Given the description of an element on the screen output the (x, y) to click on. 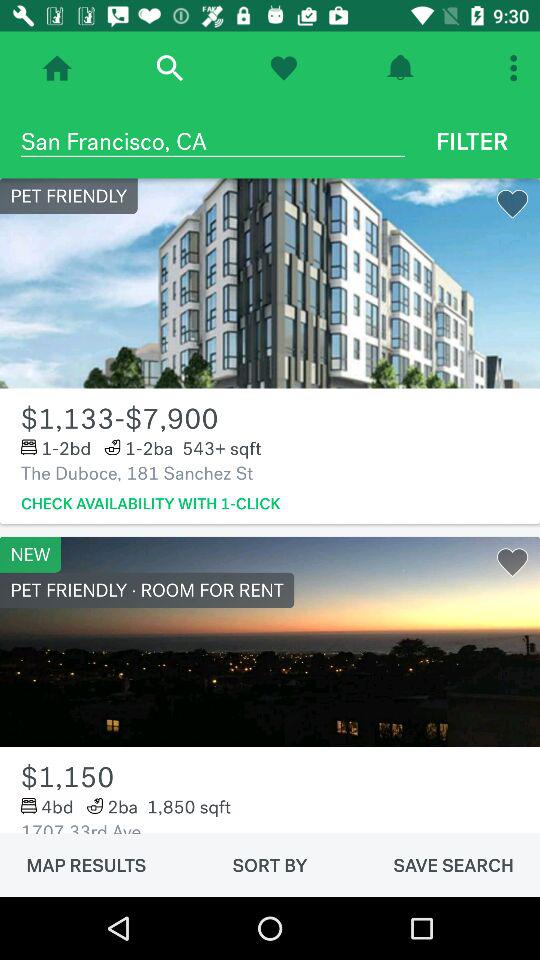
go to home page (57, 68)
